Given the description of an element on the screen output the (x, y) to click on. 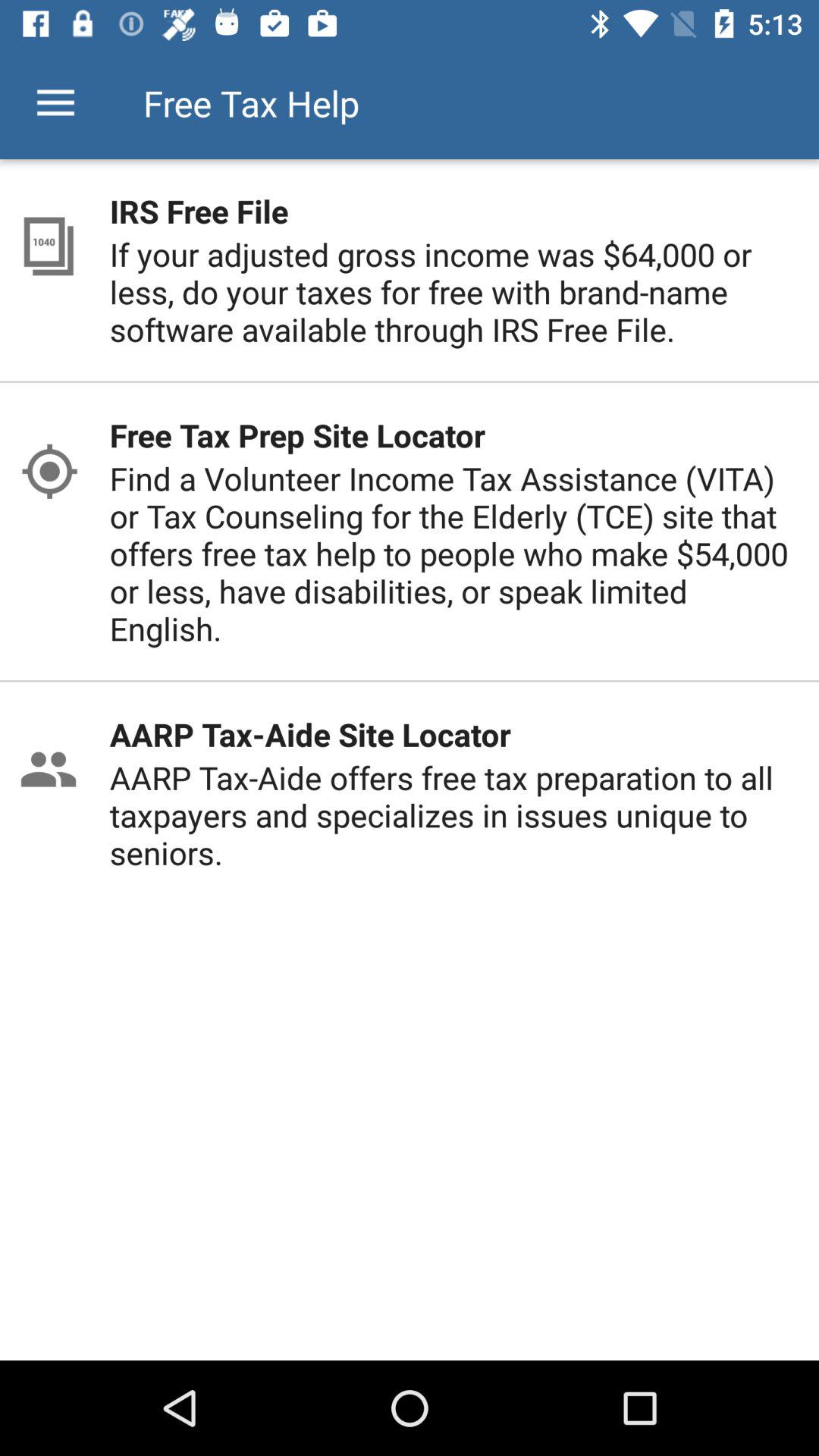
turn on item to the left of the free tax help item (55, 103)
